Given the description of an element on the screen output the (x, y) to click on. 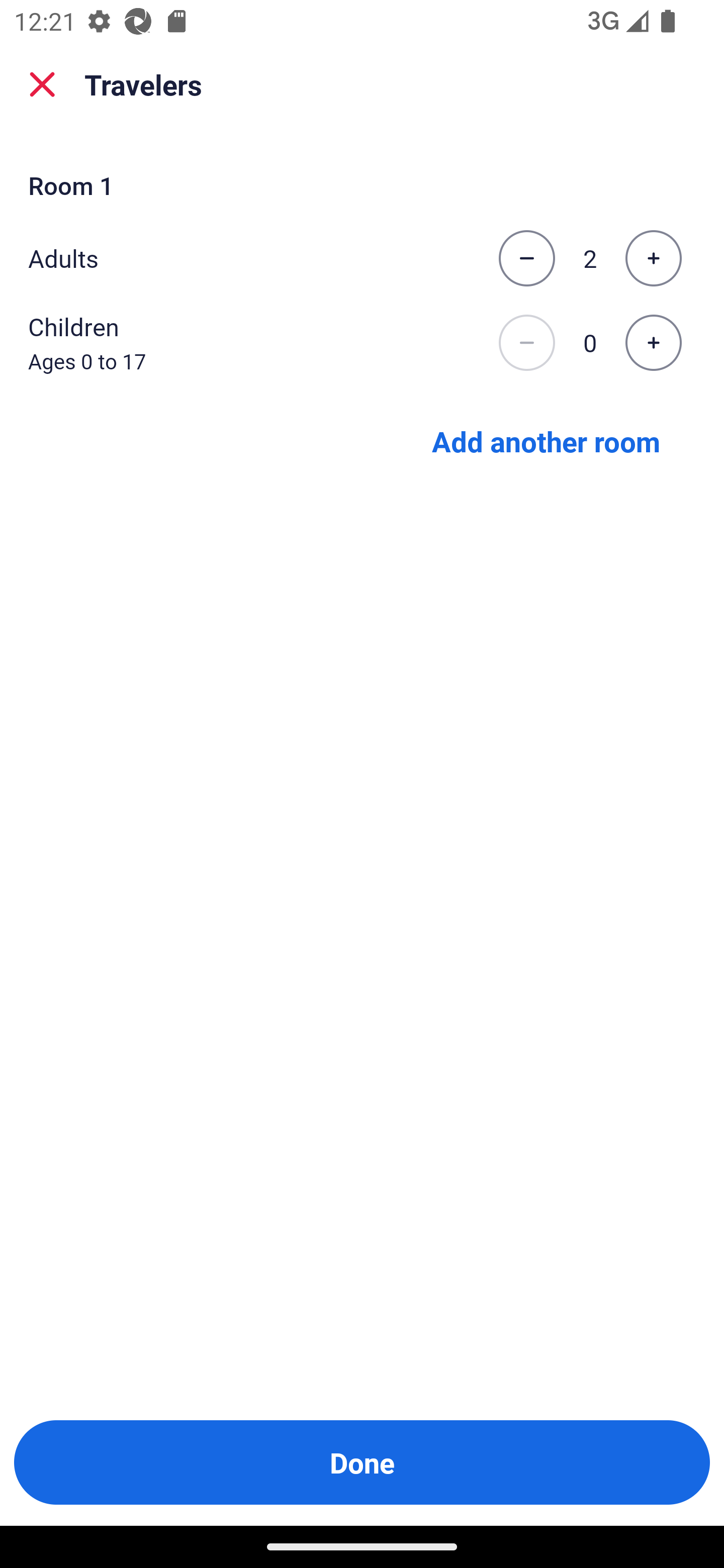
close (42, 84)
Decrease the number of adults (526, 258)
Increase the number of adults (653, 258)
Decrease the number of children (526, 343)
Increase the number of children (653, 343)
Add another room (545, 440)
Done (361, 1462)
